Given the description of an element on the screen output the (x, y) to click on. 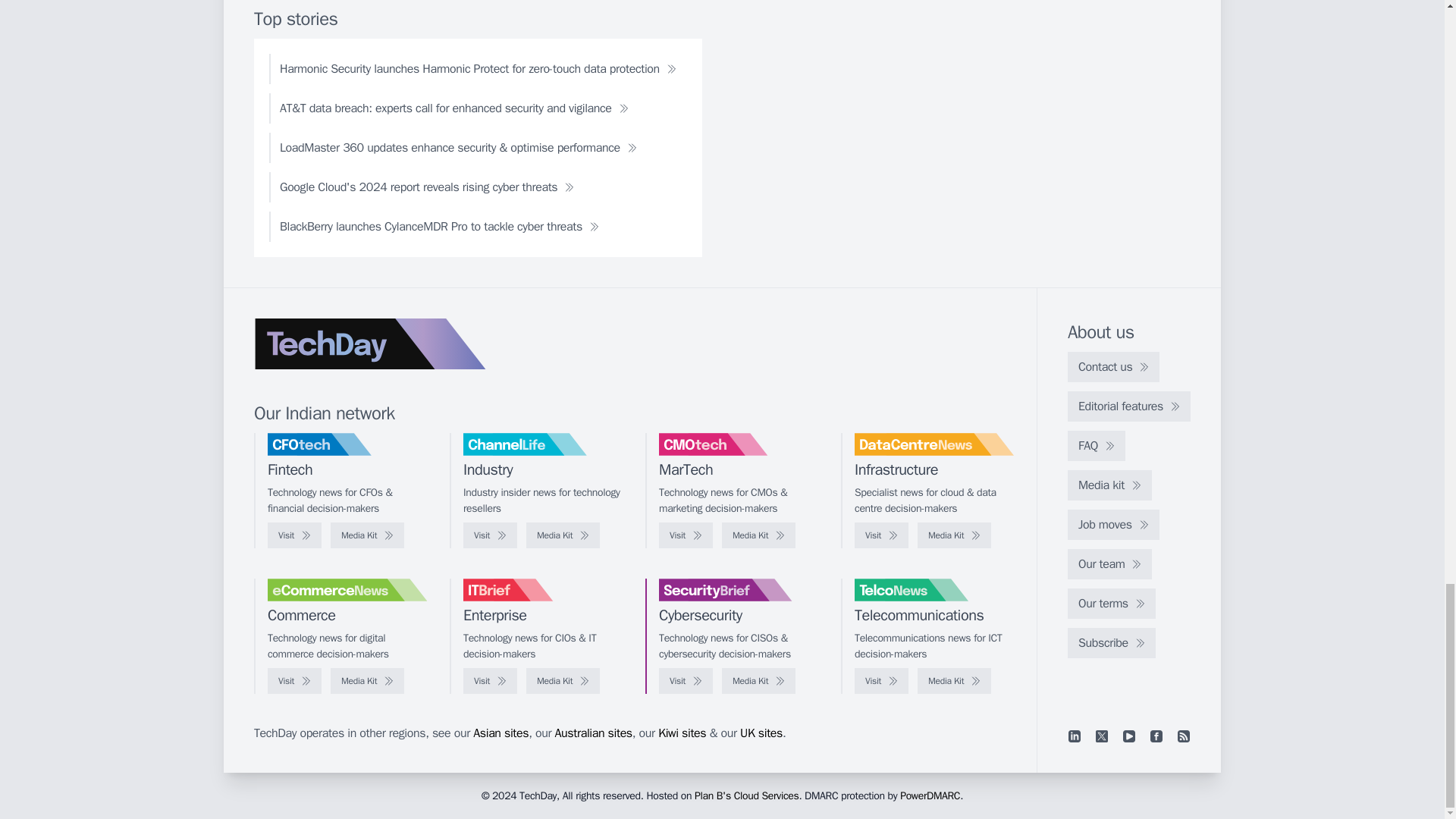
Media Kit (562, 534)
Media Kit (367, 534)
BlackBerry launches CylanceMDR Pro to tackle cyber threats (439, 226)
Media Kit (954, 534)
Google Cloud's 2024 report reveals rising cyber threats (427, 186)
Visit (686, 534)
Media Kit (758, 534)
Visit (881, 534)
Visit (294, 534)
Visit (489, 534)
